Given the description of an element on the screen output the (x, y) to click on. 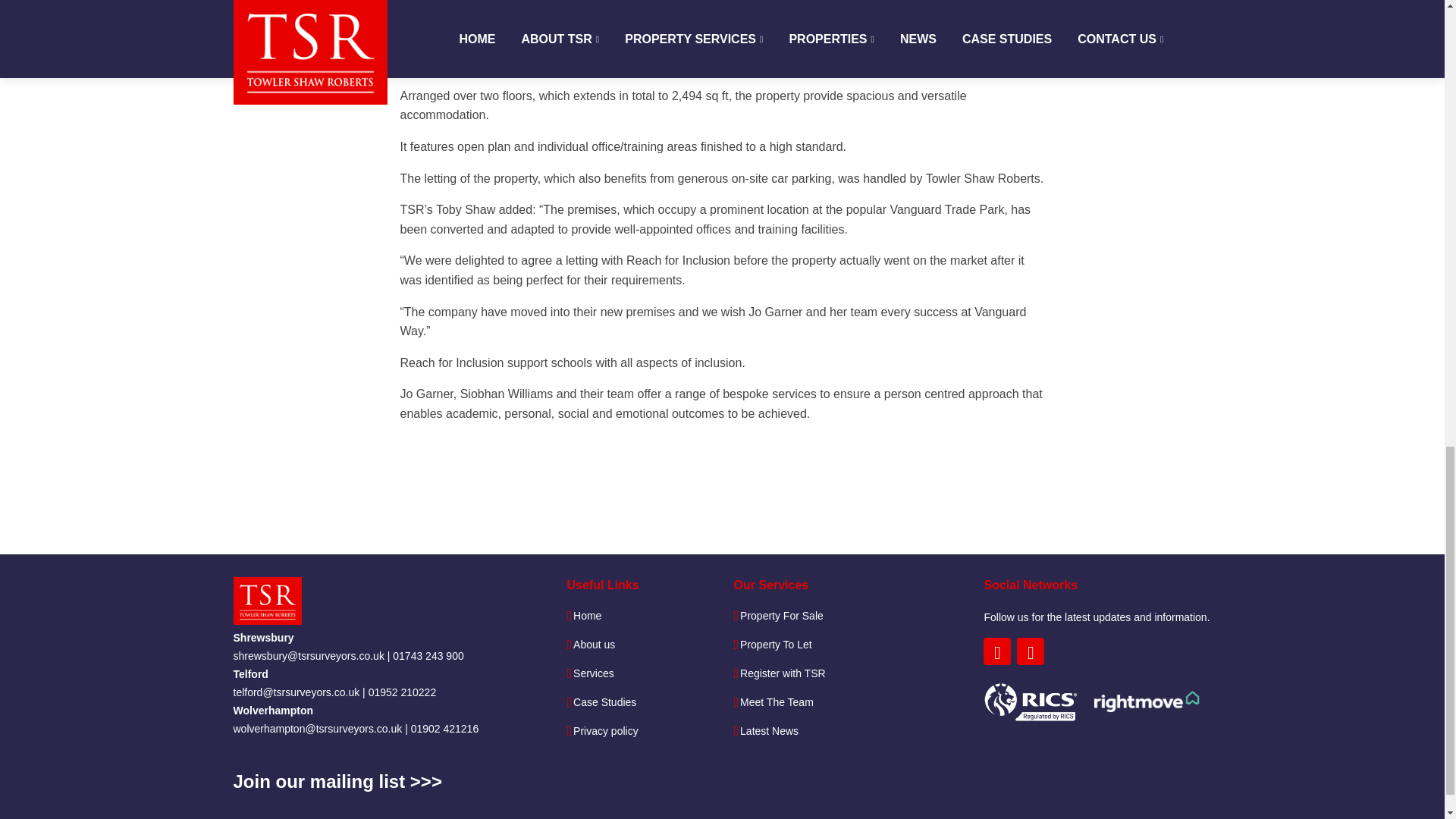
About us (593, 644)
Property To Let (775, 644)
Meet The Team (776, 701)
Services (593, 673)
01902 421216 (444, 728)
01743 243 900 (428, 655)
Home (587, 615)
Privacy policy (606, 730)
01952 210222 (402, 692)
Case Studies (604, 701)
